Given the description of an element on the screen output the (x, y) to click on. 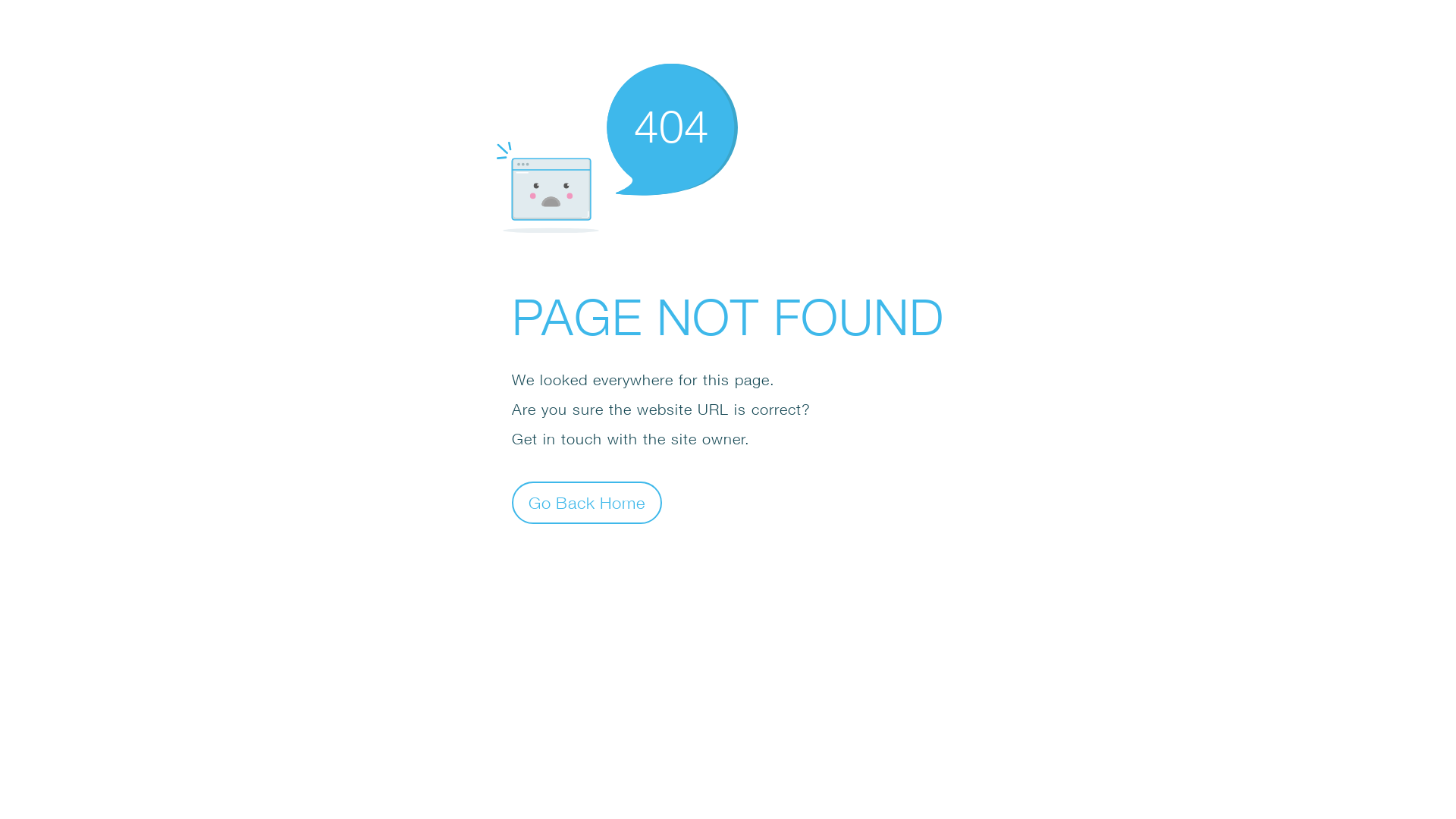
Go Back Home Element type: text (586, 502)
